Given the description of an element on the screen output the (x, y) to click on. 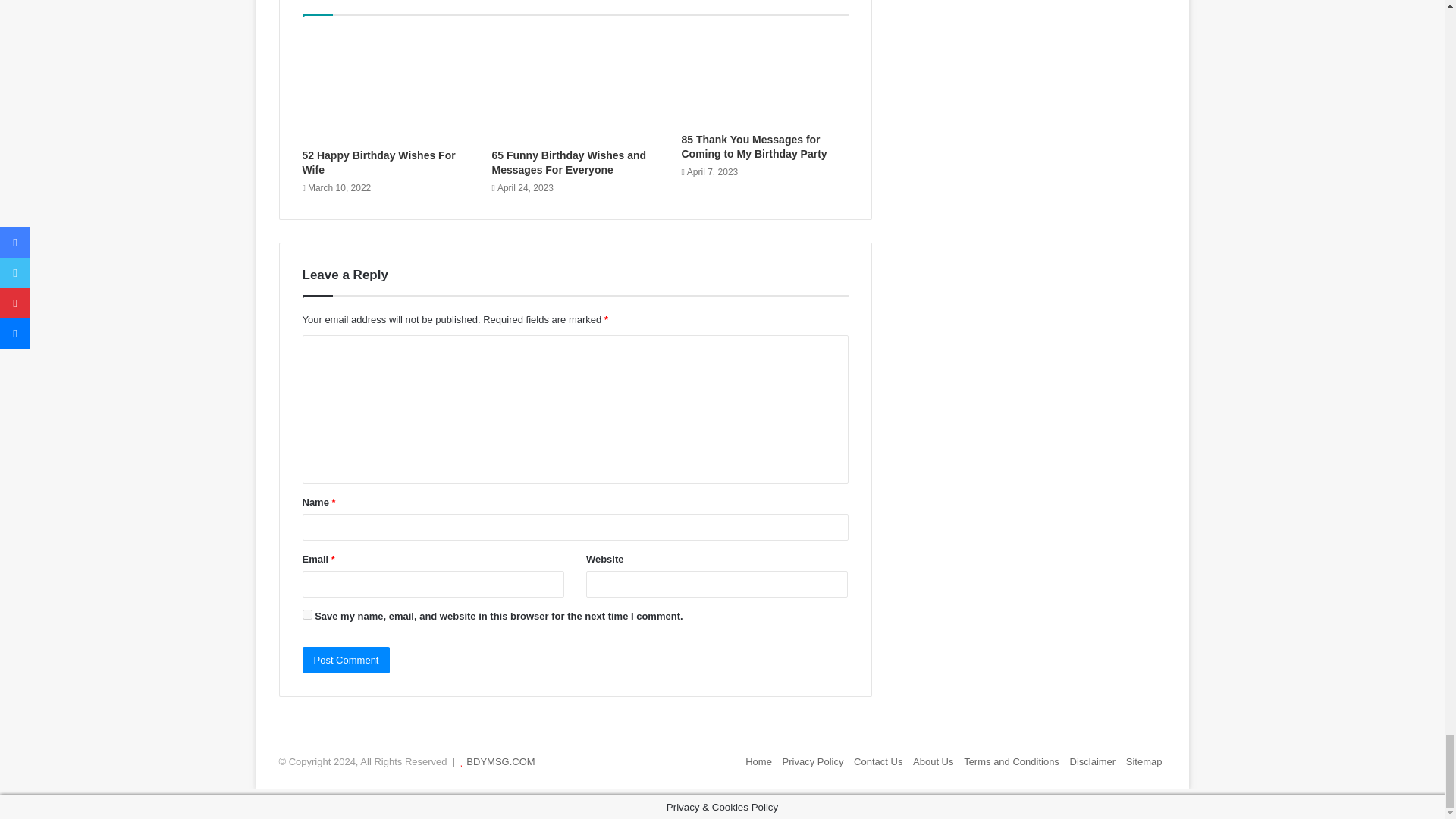
Post Comment (345, 660)
yes (306, 614)
